Given the description of an element on the screen output the (x, y) to click on. 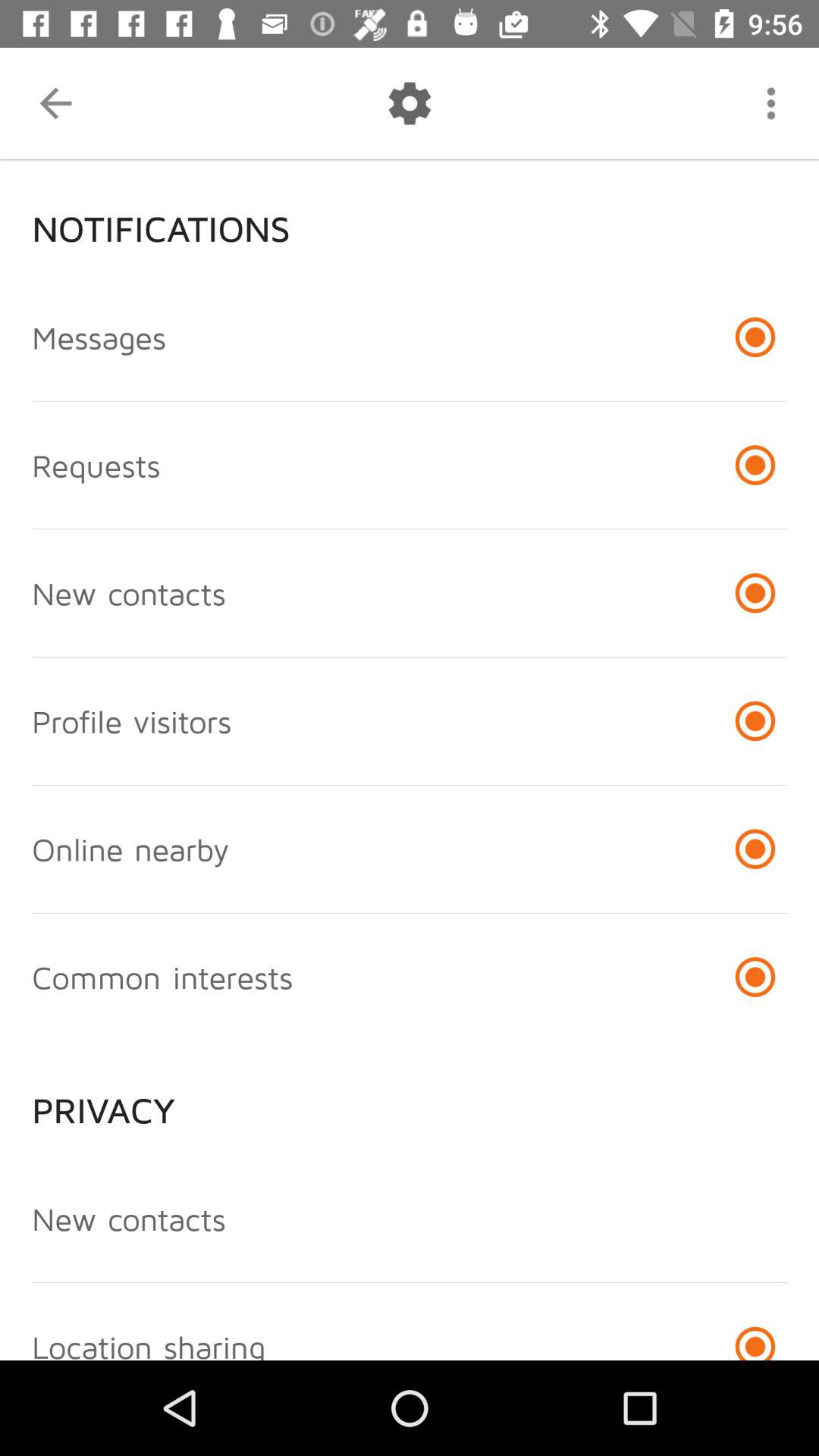
click common interests item (161, 976)
